Given the description of an element on the screen output the (x, y) to click on. 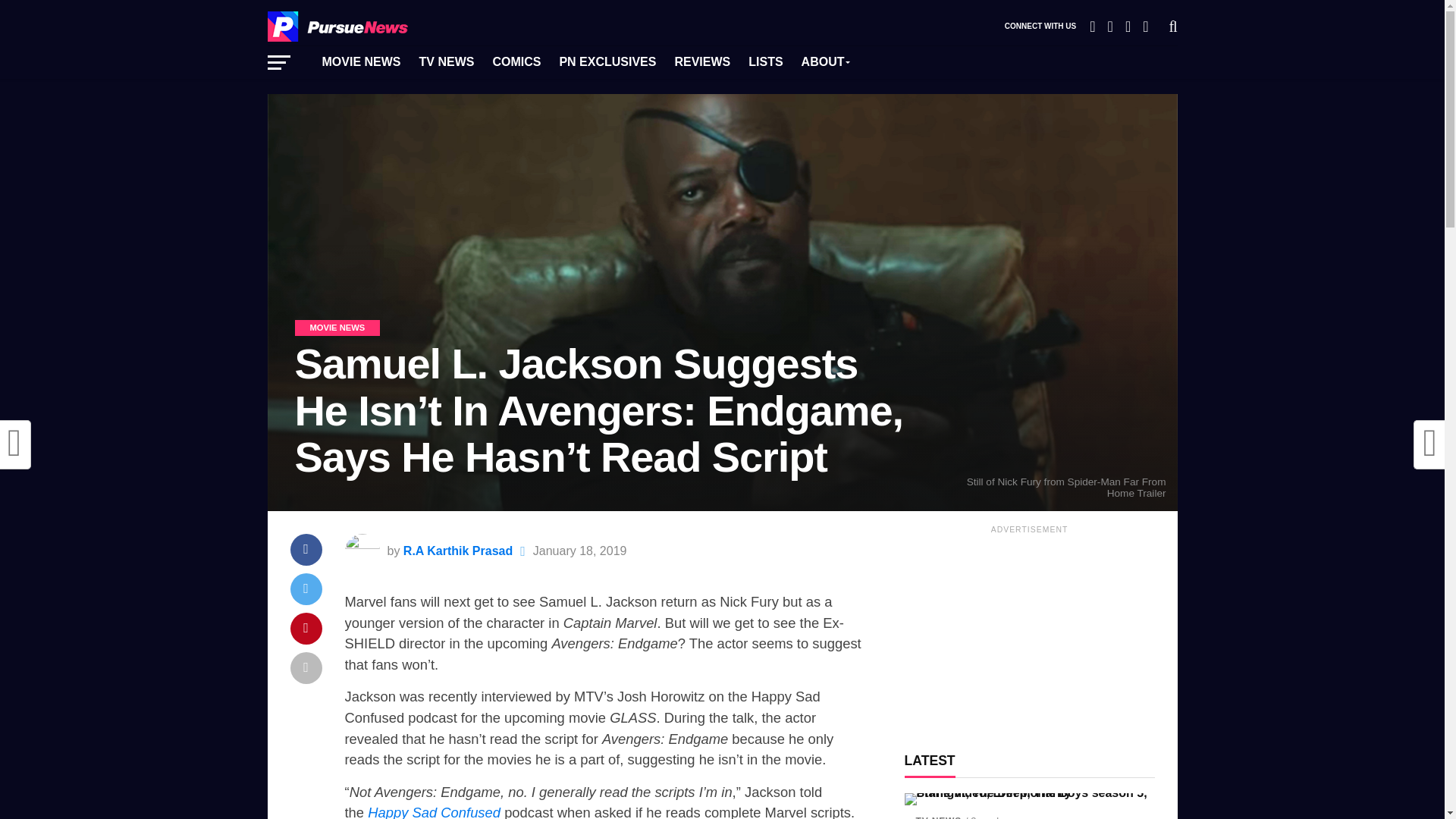
Posts by R.A Karthik Prasad (457, 550)
R.A Karthik Prasad (457, 550)
LISTS (765, 61)
COMICS (516, 61)
TV NEWS (446, 61)
PN EXCLUSIVES (607, 61)
ABOUT (825, 61)
MOVIE NEWS (361, 61)
Happy Sad Confused (434, 811)
REVIEWS (702, 61)
